Given the description of an element on the screen output the (x, y) to click on. 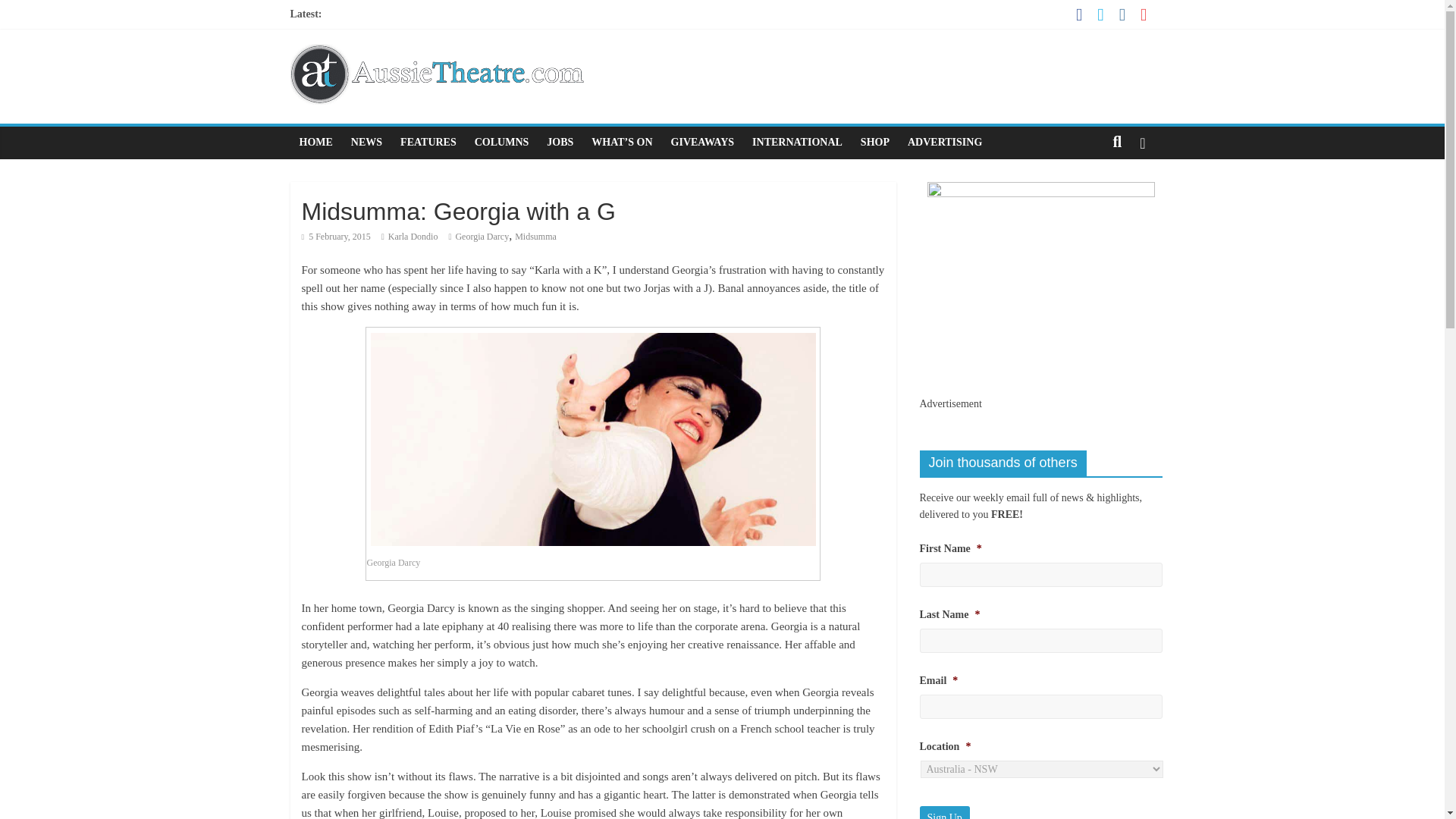
Sign Up (943, 812)
Sign Up (943, 812)
NEWS (366, 142)
FEATURES (428, 142)
11:24 am (336, 235)
ADVERTISING (944, 142)
Georgia Darcy (481, 235)
JOBS (559, 142)
HOME (314, 142)
Midsumma (535, 235)
COLUMNS (501, 142)
Karla Dondio (413, 235)
Karla Dondio (413, 235)
SHOP (874, 142)
INTERNATIONAL (796, 142)
